Given the description of an element on the screen output the (x, y) to click on. 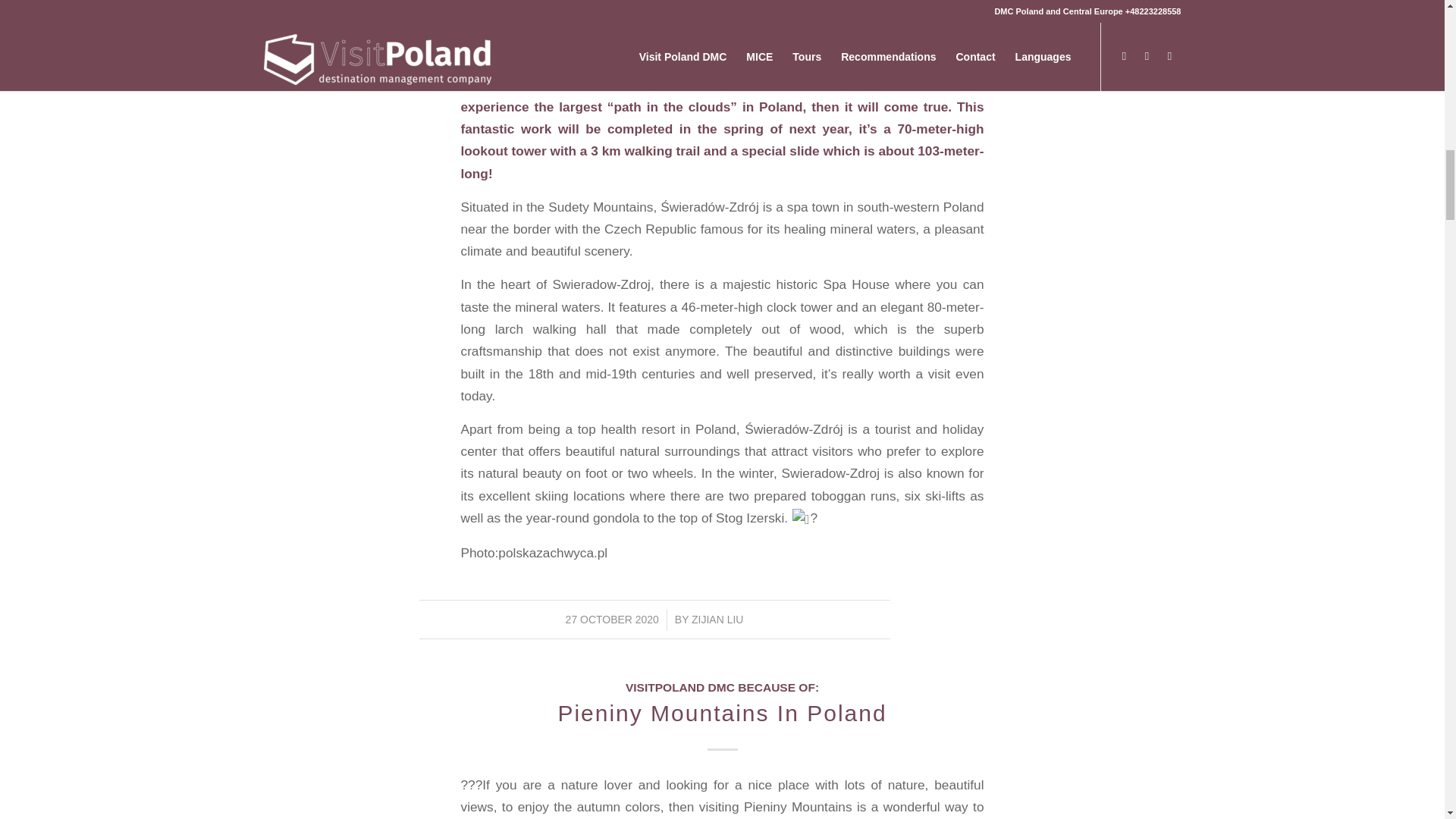
ZIJIAN LIU (716, 619)
Permanent Link: Pieniny Mountains In Poland (721, 713)
Posts by Zijian Liu (716, 619)
Pieniny Mountains In Poland (721, 713)
VISITPOLAND DMC BECAUSE OF: (722, 686)
